Given the description of an element on the screen output the (x, y) to click on. 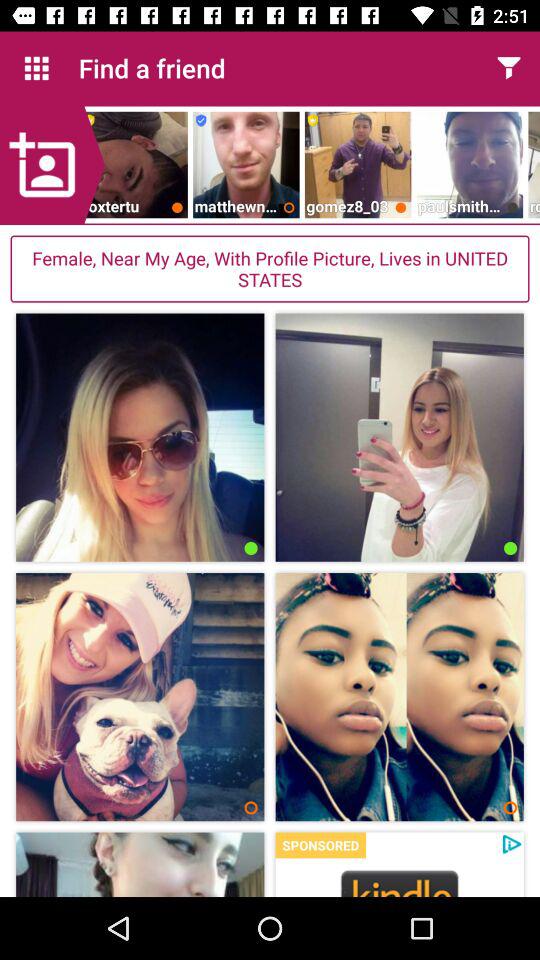
press the sponsored (320, 845)
